Given the description of an element on the screen output the (x, y) to click on. 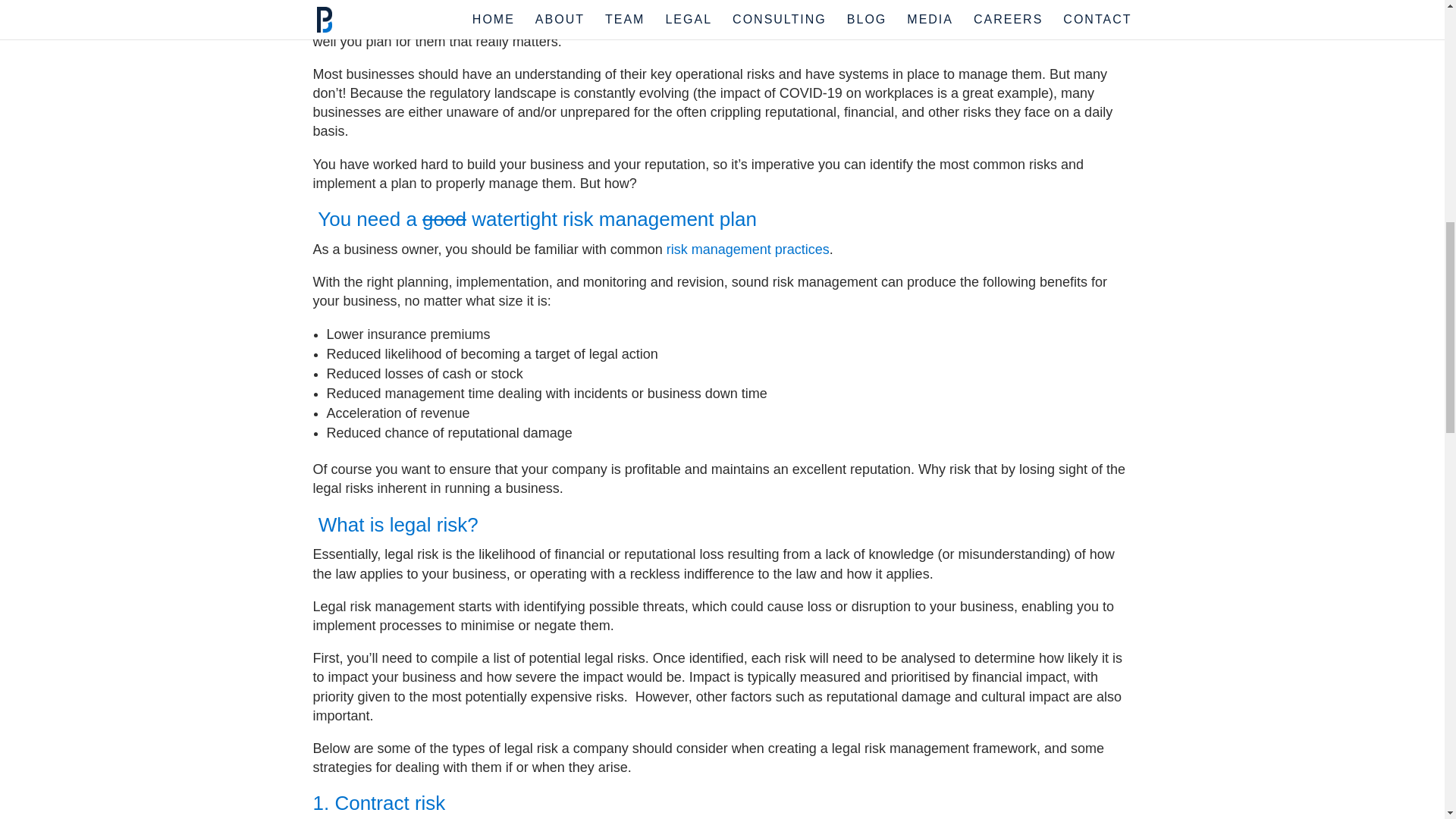
risk management practices (747, 249)
